Given the description of an element on the screen output the (x, y) to click on. 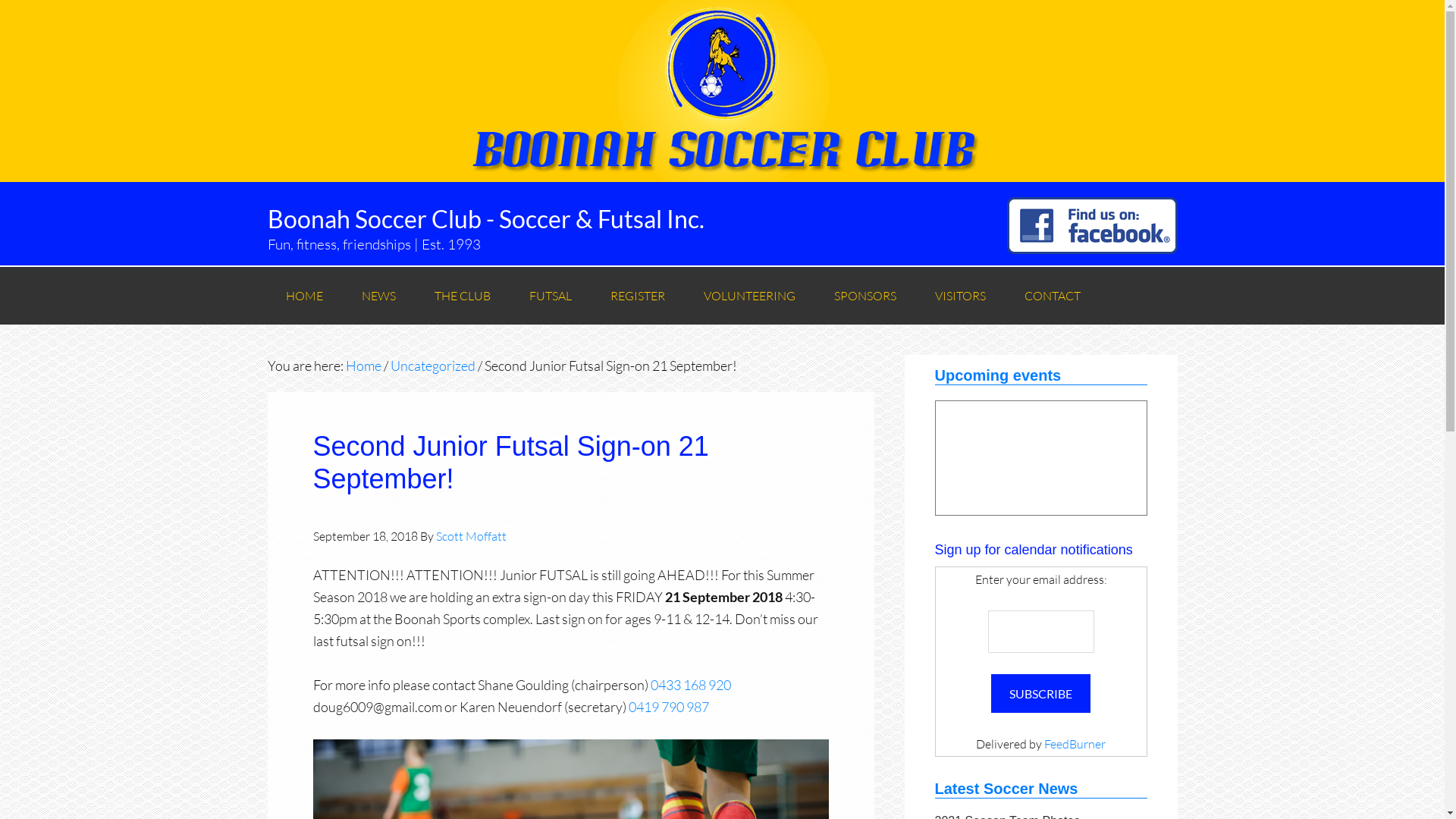
REGISTER Element type: text (636, 295)
Boonah Soccer Club - Soccer & Futsal Inc. Element type: text (484, 218)
FeedBurner Element type: text (1074, 743)
NEWS Element type: text (377, 295)
Scott Moffatt Element type: text (470, 535)
VISITORS Element type: text (959, 295)
THE CLUB Element type: text (461, 295)
HOME Element type: text (303, 295)
Subscribe Element type: text (1040, 693)
SPONSORS Element type: text (864, 295)
0433 168 920 Element type: text (690, 684)
FUTSAL Element type: text (550, 295)
CONTACT Element type: text (1051, 295)
0419 790 987 Element type: text (667, 706)
Home Element type: text (363, 365)
VOLUNTEERING Element type: text (749, 295)
Uncategorized Element type: text (431, 365)
